Given the description of an element on the screen output the (x, y) to click on. 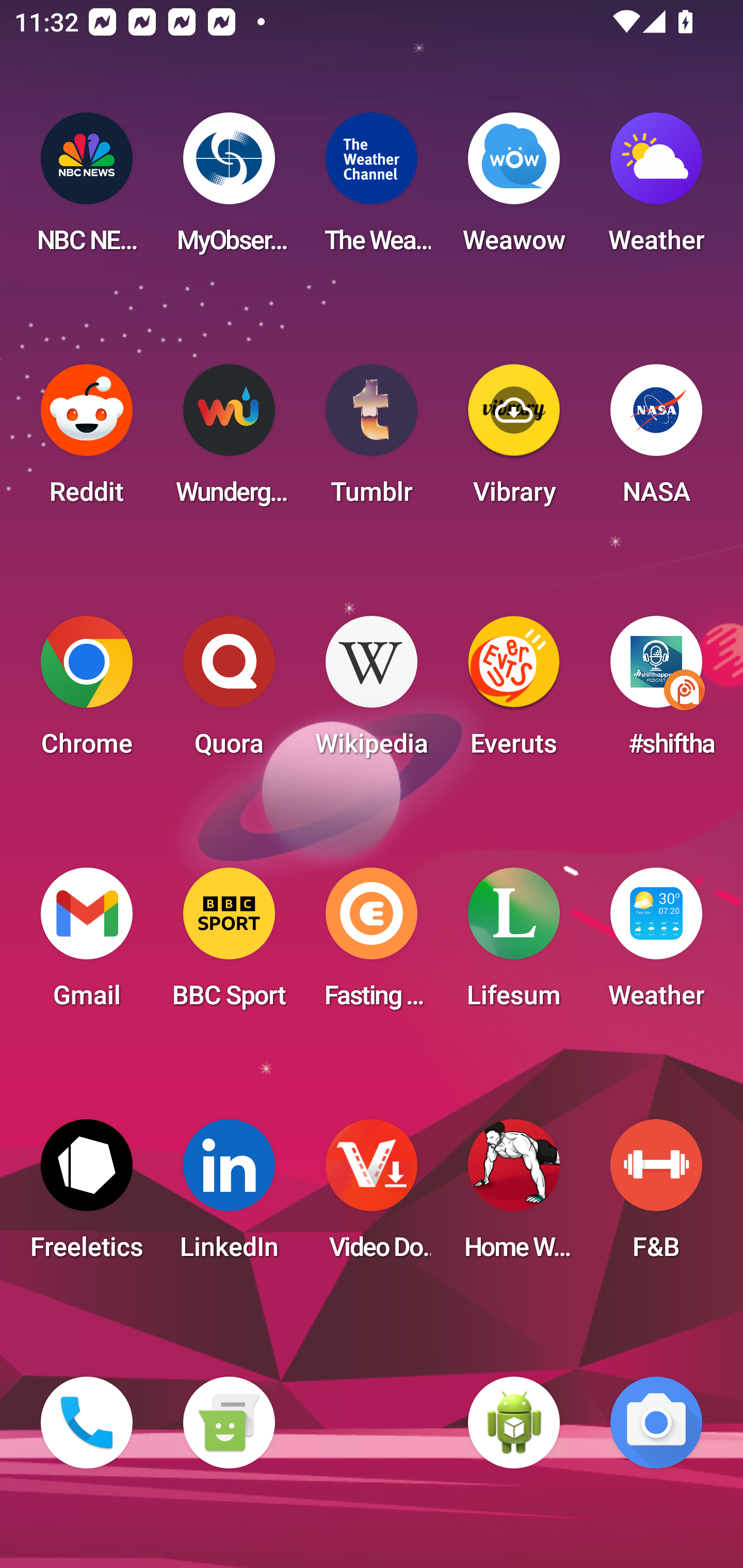
NBC NEWS (86, 188)
MyObservatory (228, 188)
The Weather Channel (371, 188)
Weawow (513, 188)
Weather (656, 188)
Reddit (86, 440)
Wunderground (228, 440)
Tumblr (371, 440)
Vibrary (513, 440)
NASA (656, 440)
Chrome (86, 692)
Quora (228, 692)
Wikipedia (371, 692)
Everuts (513, 692)
#shifthappens in the Digital Workplace Podcast (656, 692)
Gmail (86, 943)
BBC Sport (228, 943)
Fasting Coach (371, 943)
Lifesum (513, 943)
Weather (656, 943)
Freeletics (86, 1195)
LinkedIn (228, 1195)
Video Downloader & Ace Player (371, 1195)
Home Workout (513, 1195)
F&B (656, 1195)
Phone (86, 1422)
Messaging (228, 1422)
WebView Browser Tester (513, 1422)
Camera (656, 1422)
